Given the description of an element on the screen output the (x, y) to click on. 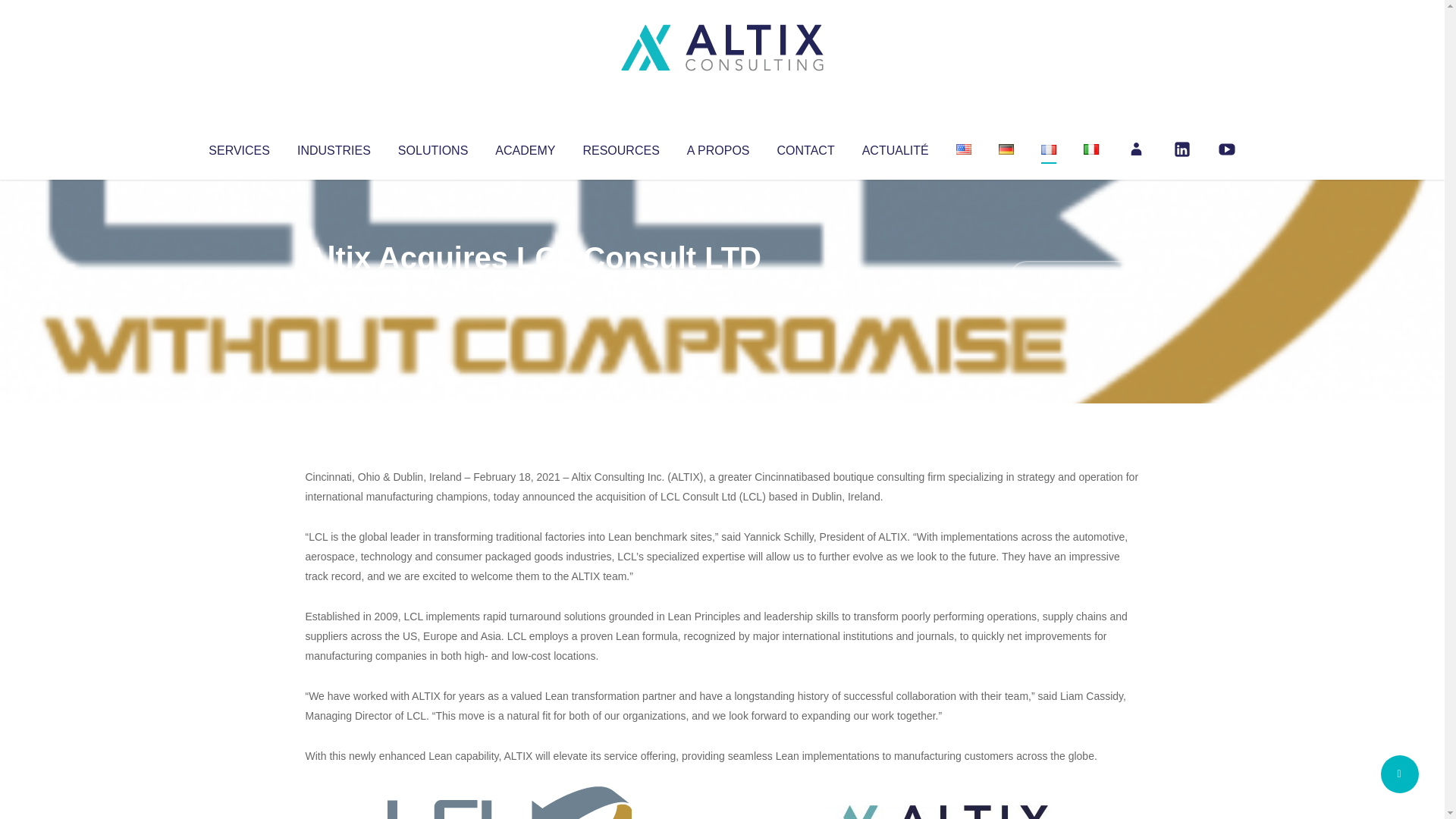
INDUSTRIES (334, 146)
Uncategorized (530, 287)
A PROPOS (718, 146)
Articles par Altix (333, 287)
No Comments (1073, 278)
RESOURCES (620, 146)
ACADEMY (524, 146)
SERVICES (238, 146)
SOLUTIONS (432, 146)
Altix (333, 287)
